Given the description of an element on the screen output the (x, y) to click on. 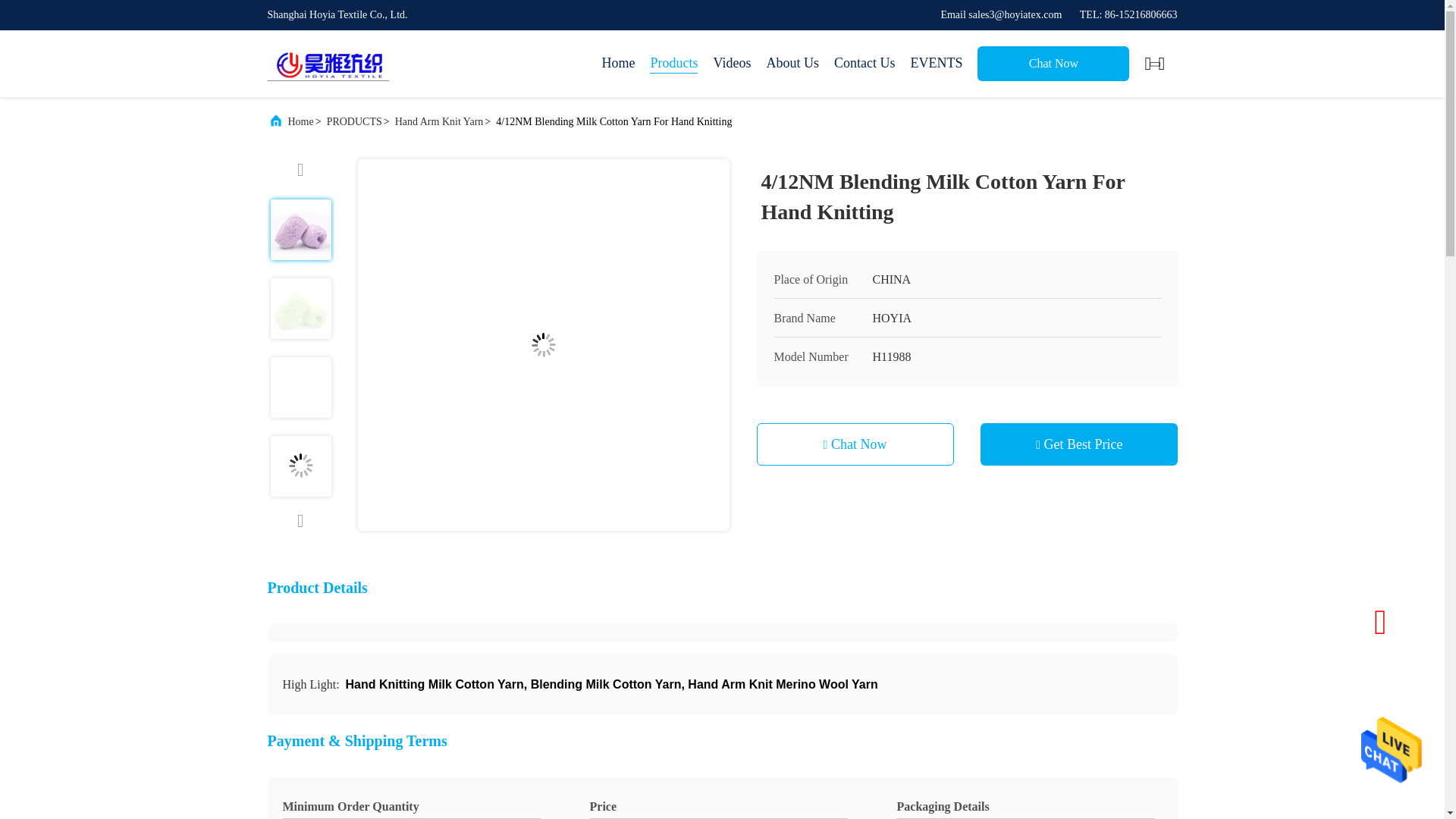
About Us (791, 63)
Home (301, 121)
Contact Us (864, 63)
email (1000, 14)
EVENTS (936, 63)
Chat Now (1052, 63)
Home (617, 63)
Products (673, 63)
